Given the description of an element on the screen output the (x, y) to click on. 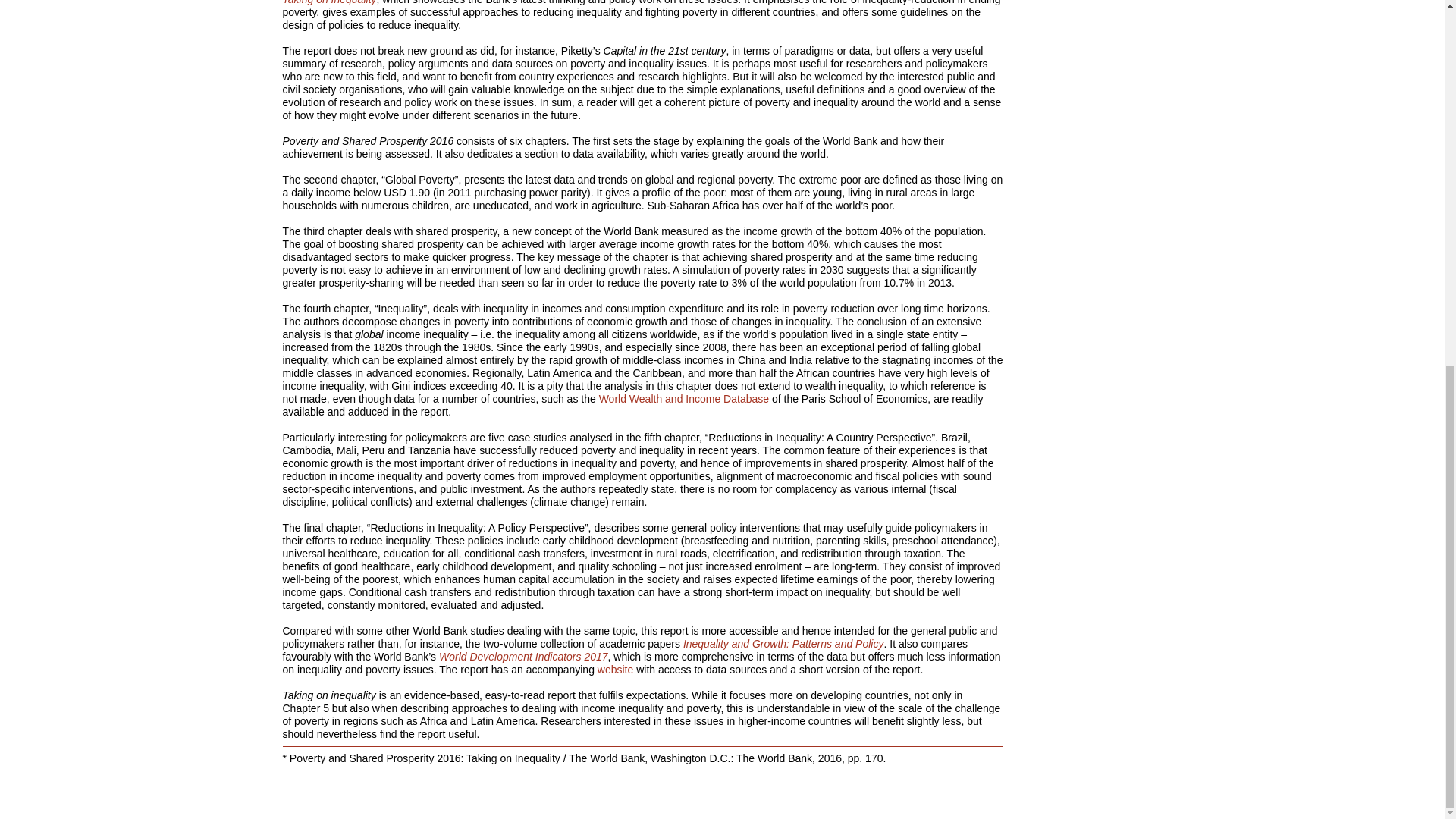
website (614, 669)
World Wealth and Income Database (683, 398)
Inequality and Growth: Patterns and Policy (782, 644)
World Development Indicators 2017 (523, 656)
